Given the description of an element on the screen output the (x, y) to click on. 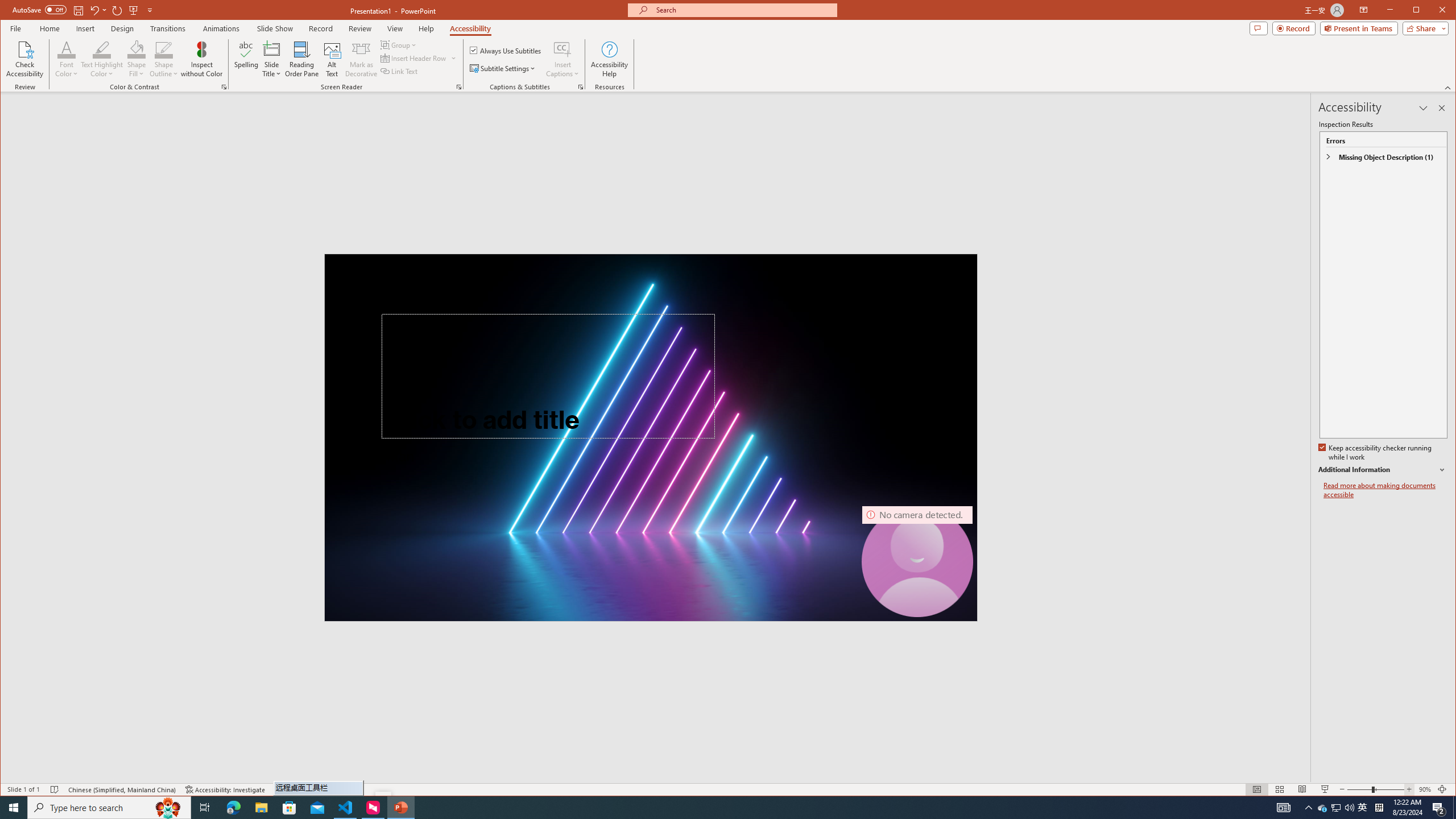
Color & Contrast (223, 86)
Neon laser lights aligned to form a triangle (650, 436)
